Given the description of an element on the screen output the (x, y) to click on. 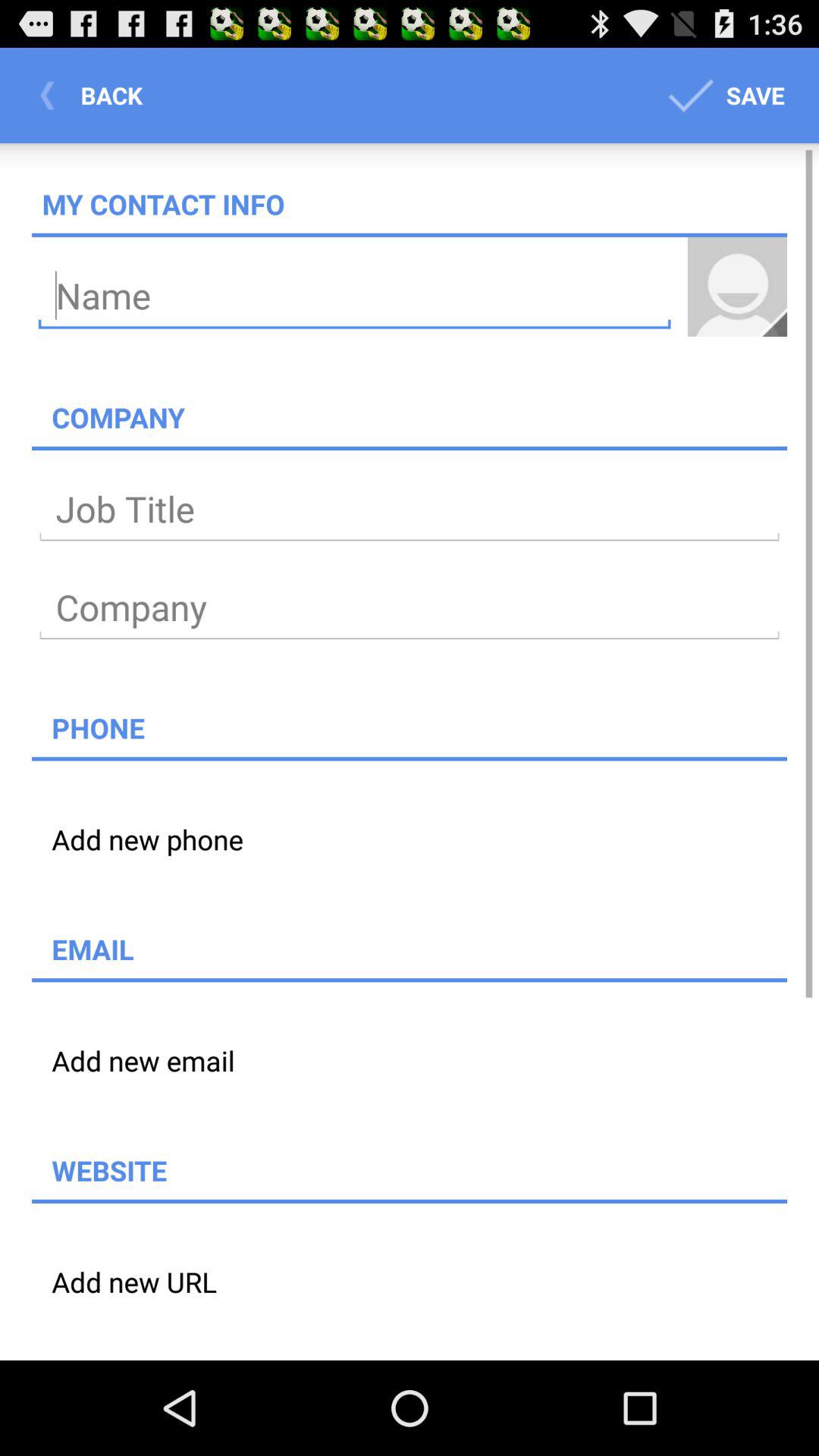
click the button next to the save (95, 95)
